Given the description of an element on the screen output the (x, y) to click on. 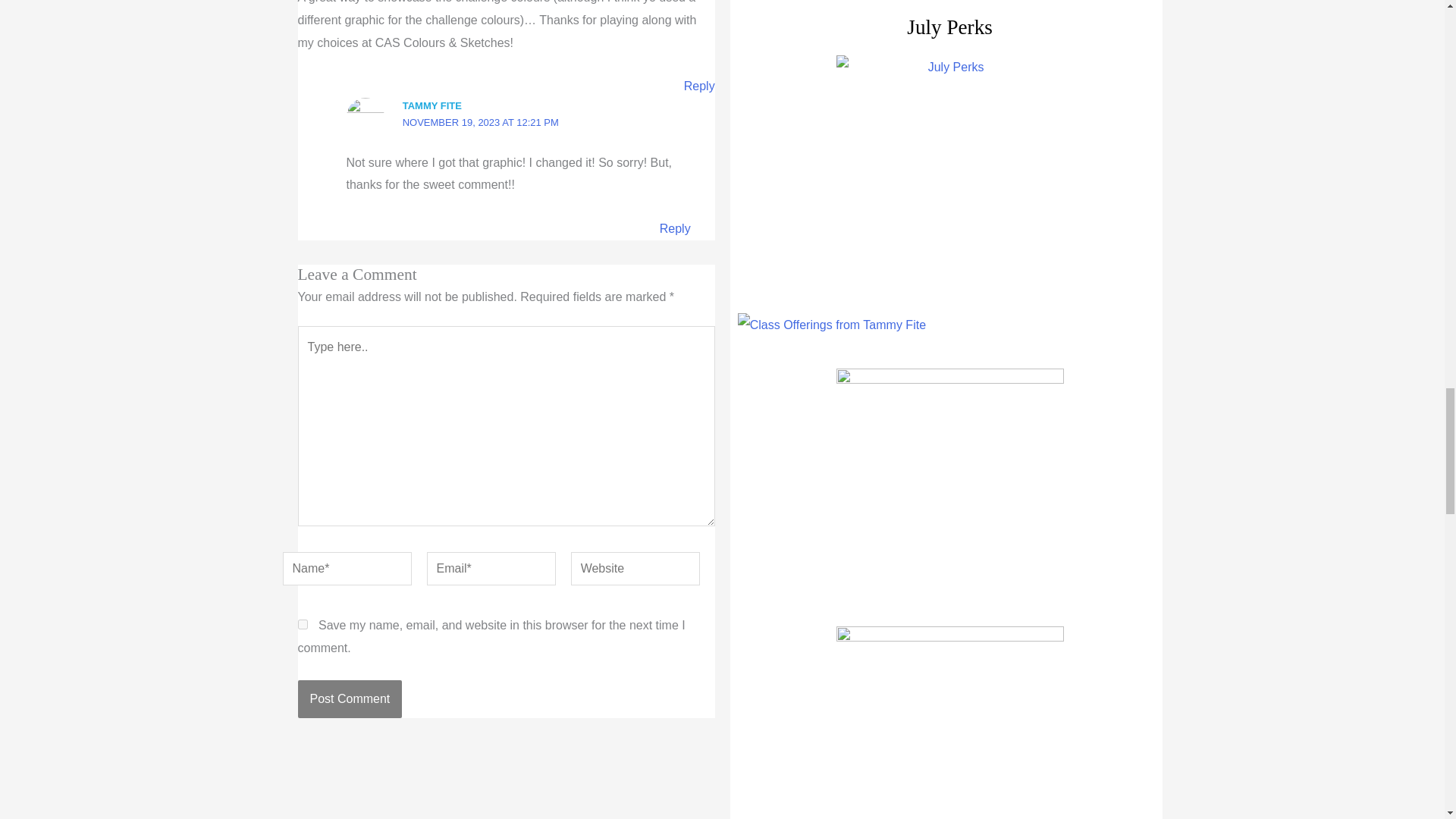
July Perks (949, 168)
yes (302, 624)
Post Comment (349, 698)
